Given the description of an element on the screen output the (x, y) to click on. 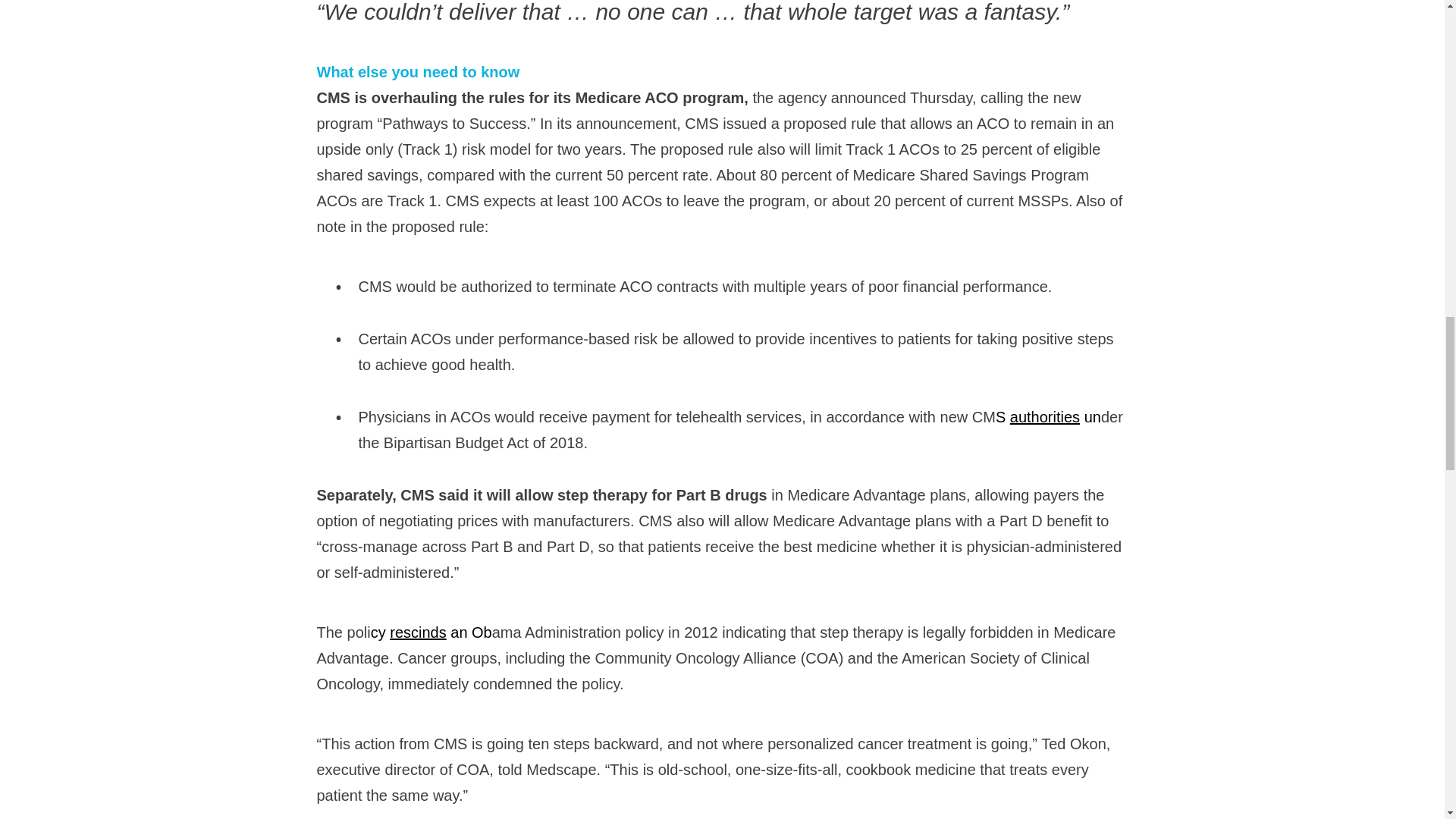
rescinds (417, 632)
authorities (1045, 416)
